Given the description of an element on the screen output the (x, y) to click on. 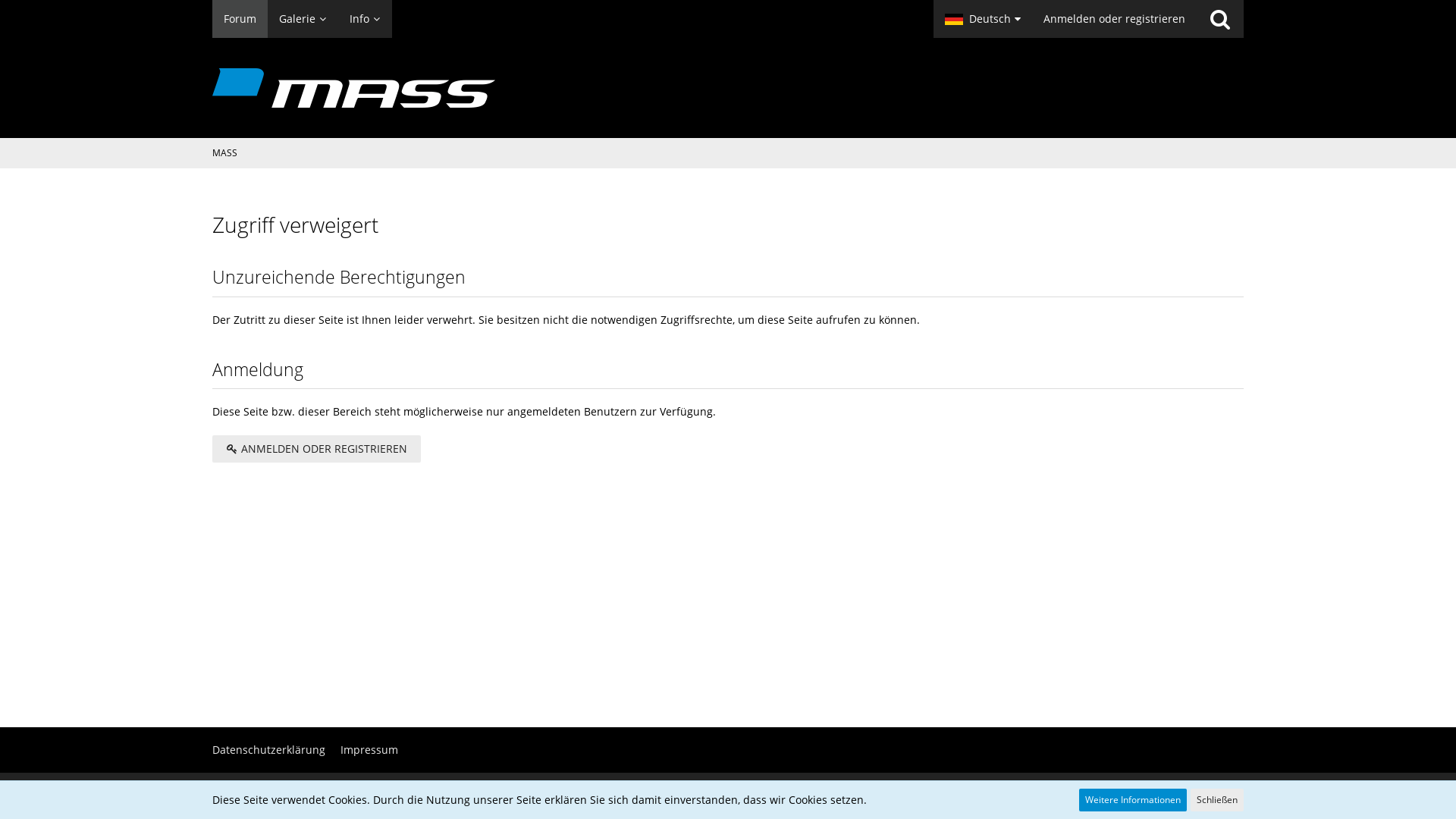
Forum Element type: text (239, 18)
Info Element type: text (365, 18)
Deutsch Element type: text (982, 18)
MASS Element type: text (224, 152)
ANMELDEN ODER REGISTRIEREN Element type: text (316, 449)
Galerie Element type: text (302, 18)
Anmelden oder registrieren Element type: text (1114, 18)
Impressum Element type: text (369, 749)
Weitere Informationen Element type: text (1132, 799)
